Given the description of an element on the screen output the (x, y) to click on. 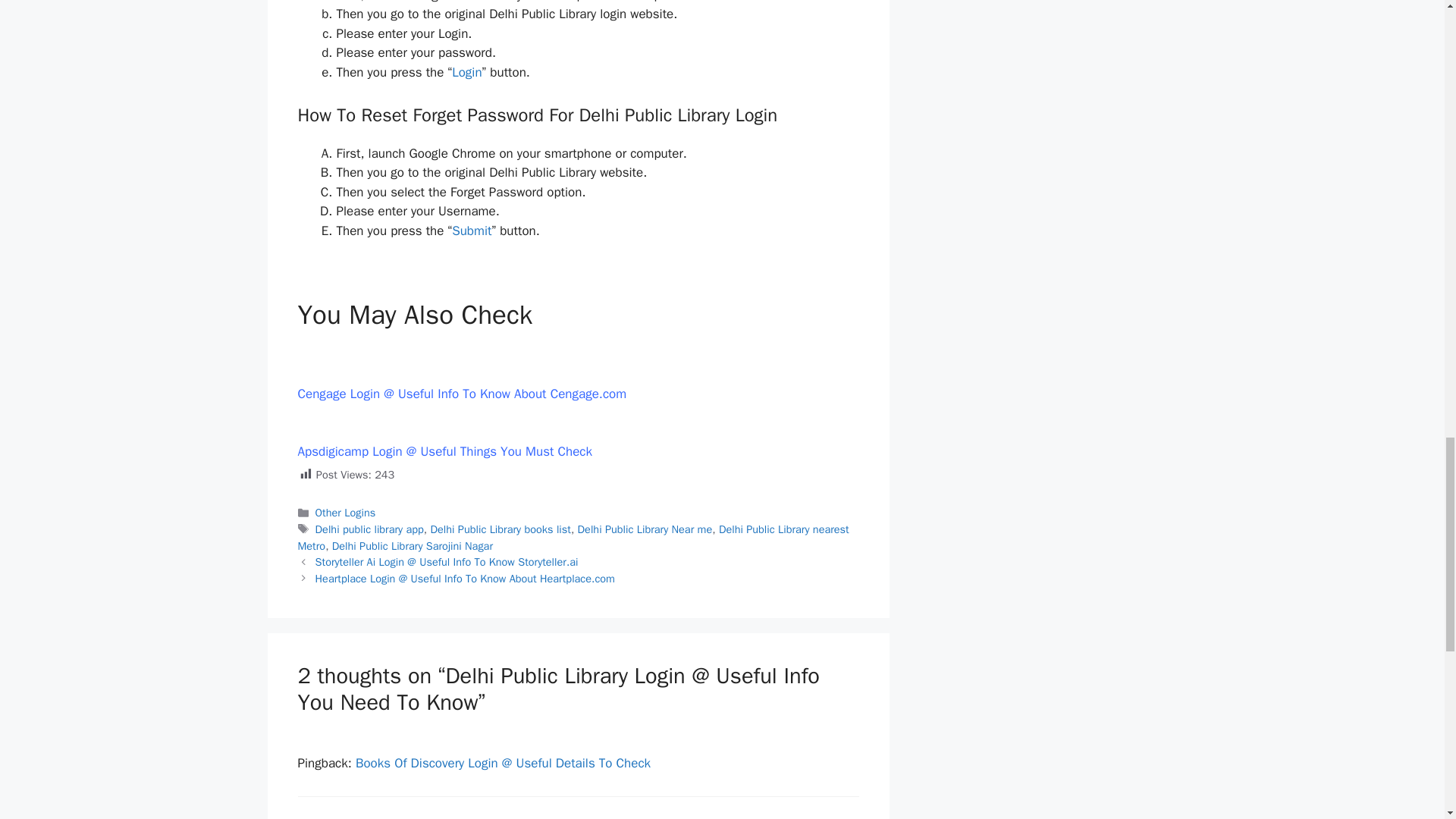
Delhi Public Library nearest Metro (572, 537)
Login (466, 72)
Other Logins (345, 512)
Delhi Public Library books list (500, 529)
Delhi Public Library Near me (645, 529)
Delhi Public Library Sarojini Nagar (412, 545)
Delhi public library app (369, 529)
Submit (471, 230)
